Given the description of an element on the screen output the (x, y) to click on. 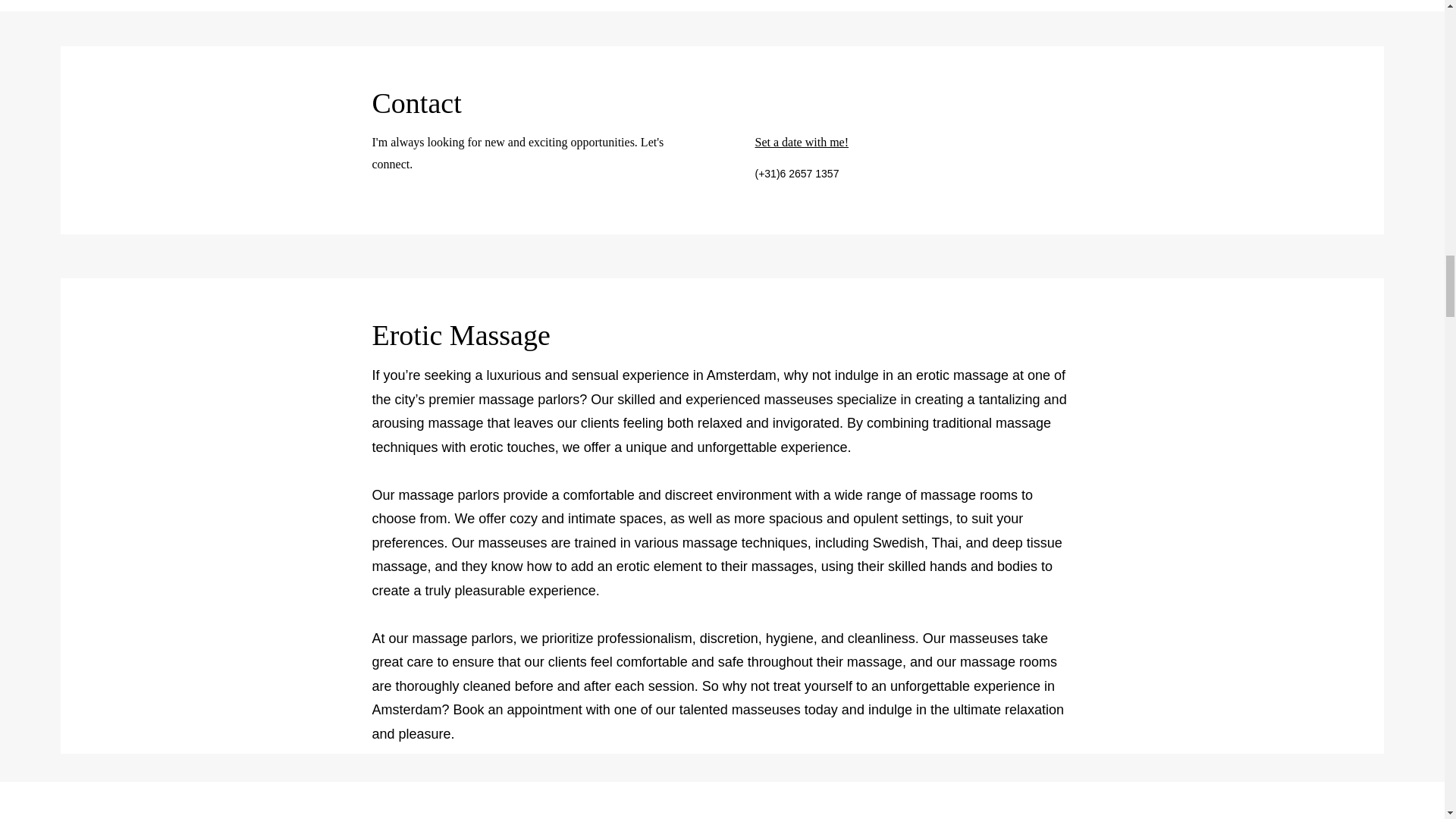
Set a date with me! (801, 141)
